Given the description of an element on the screen output the (x, y) to click on. 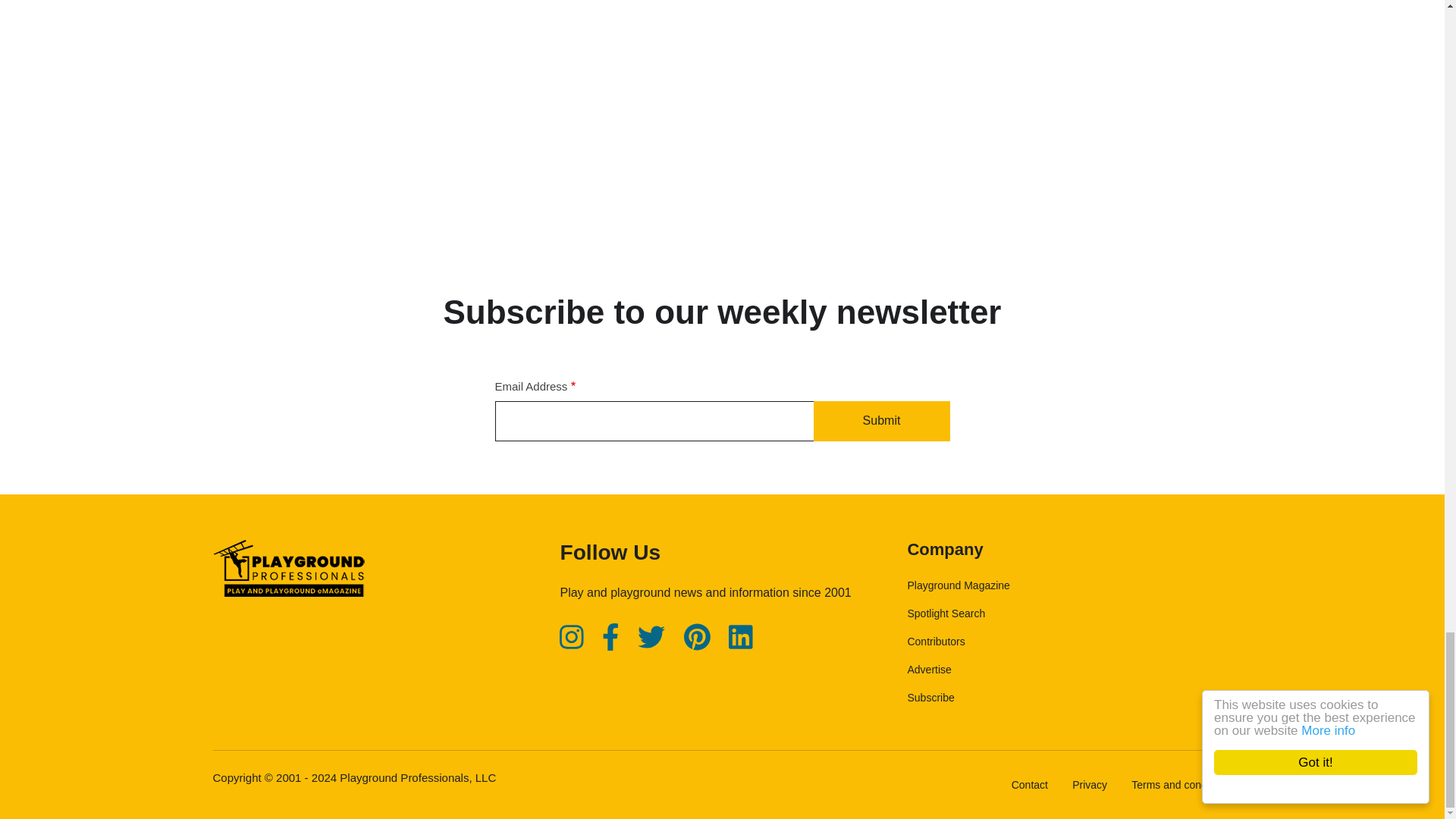
Submit (880, 421)
